Given the description of an element on the screen output the (x, y) to click on. 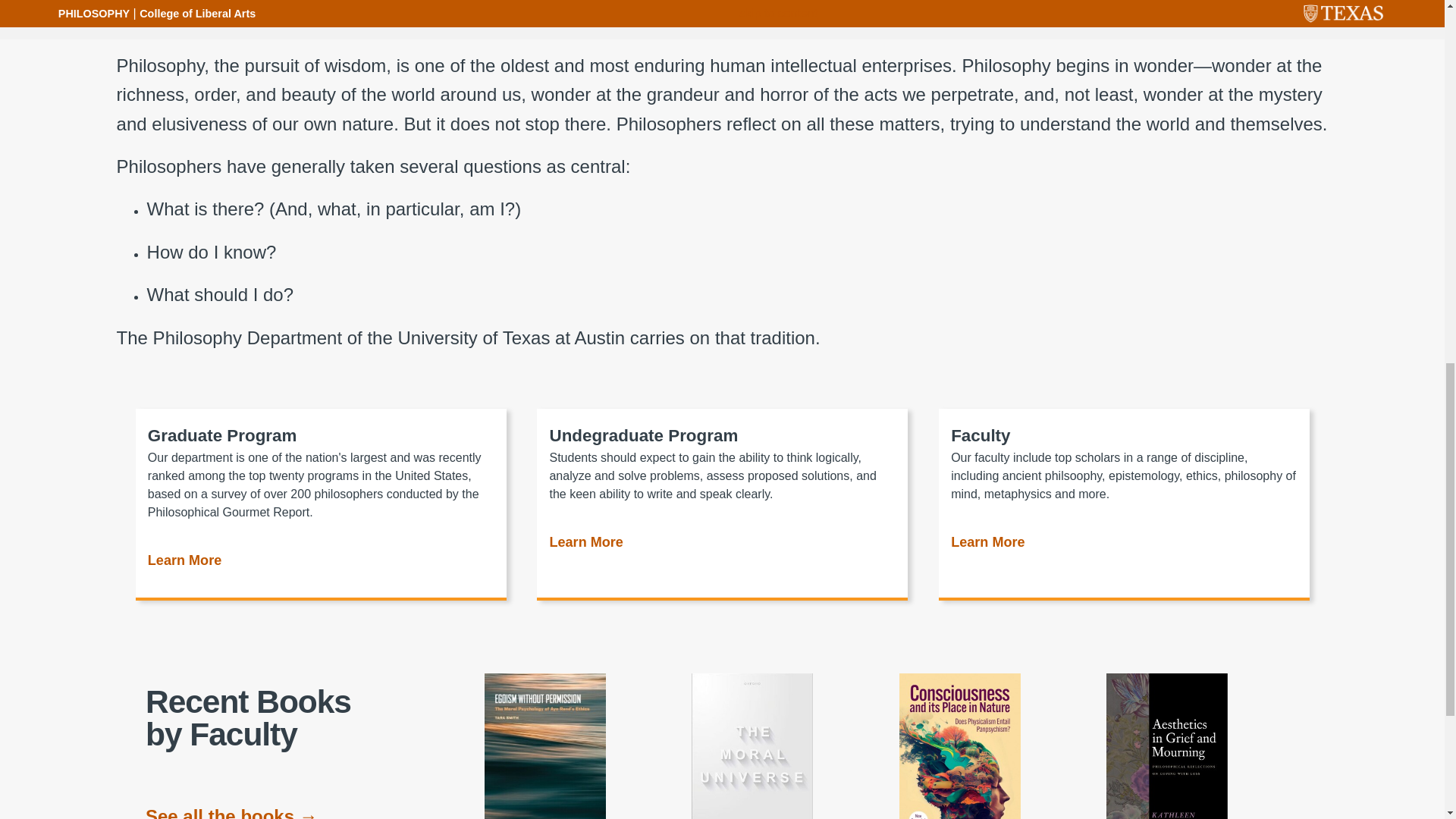
Learn More (184, 563)
Learn More (585, 545)
Learn More (987, 545)
